Given the description of an element on the screen output the (x, y) to click on. 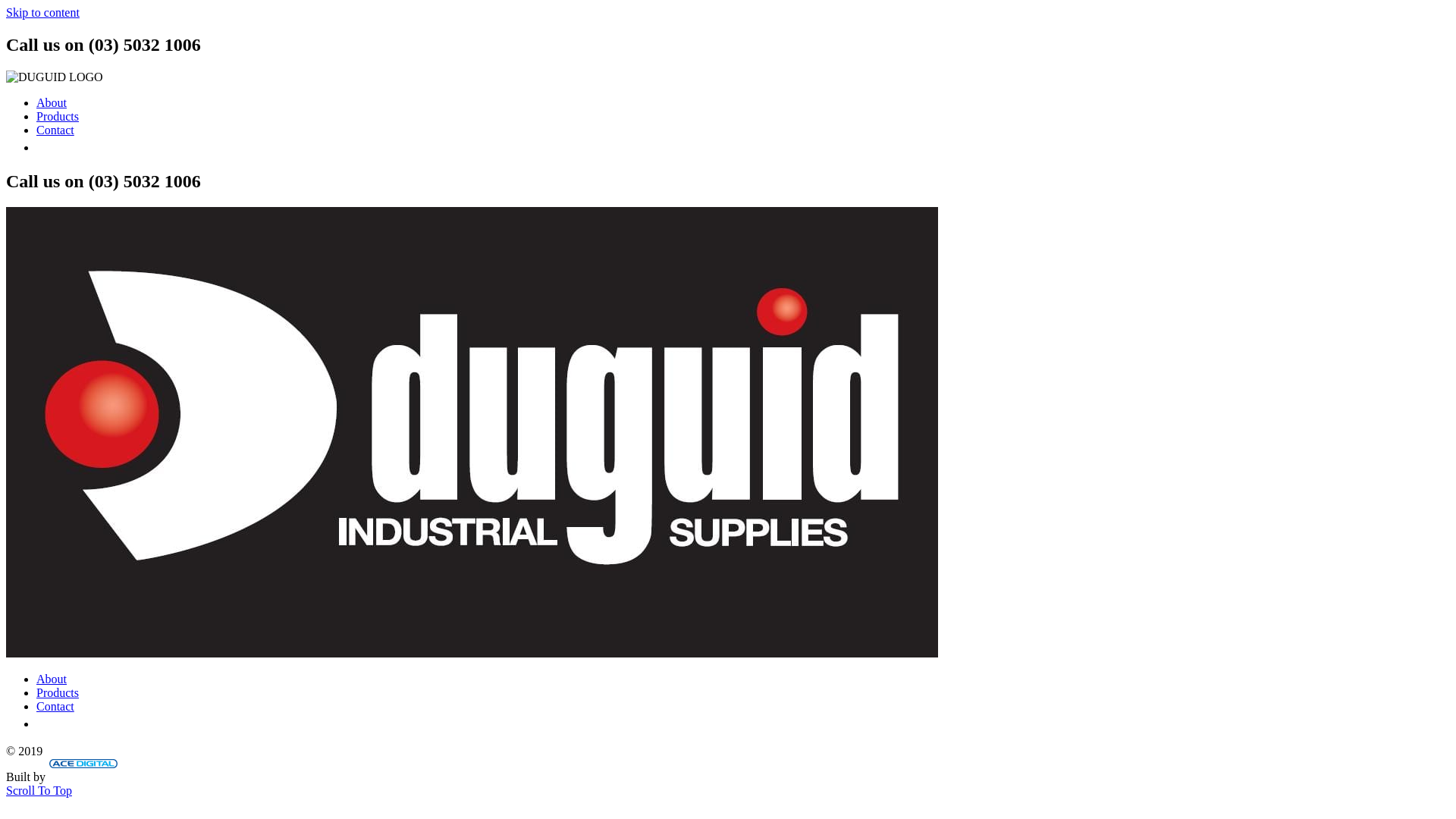
Contact Element type: text (55, 705)
About Element type: text (51, 678)
Scroll To Top Element type: text (39, 790)
Products Element type: text (57, 115)
Skip to content Element type: text (42, 12)
About Element type: text (51, 102)
Products Element type: text (57, 692)
DUGUID LOGO Element type: hover (54, 77)
Contact Element type: text (55, 129)
DUGUID LOGO Element type: hover (472, 432)
